Given the description of an element on the screen output the (x, y) to click on. 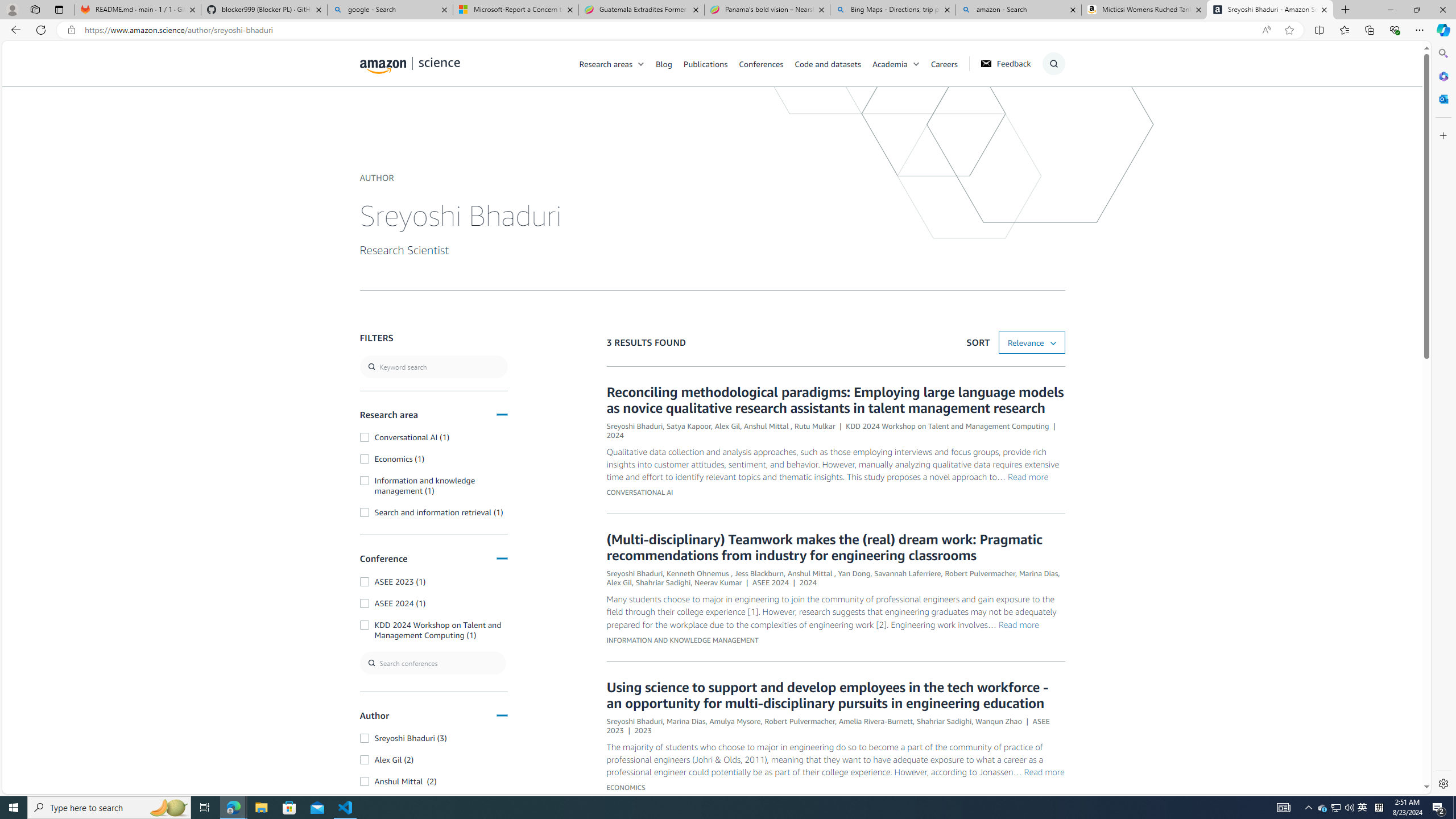
Show Search Form (1053, 63)
SORT (1031, 342)
Conferences (760, 63)
Conferences (766, 63)
Submit Search (1049, 108)
Careers (944, 63)
amazon-science-logo.svg (409, 65)
Robert Pulvermacher (799, 720)
search (433, 366)
Wanqun Zhao (998, 720)
